Given the description of an element on the screen output the (x, y) to click on. 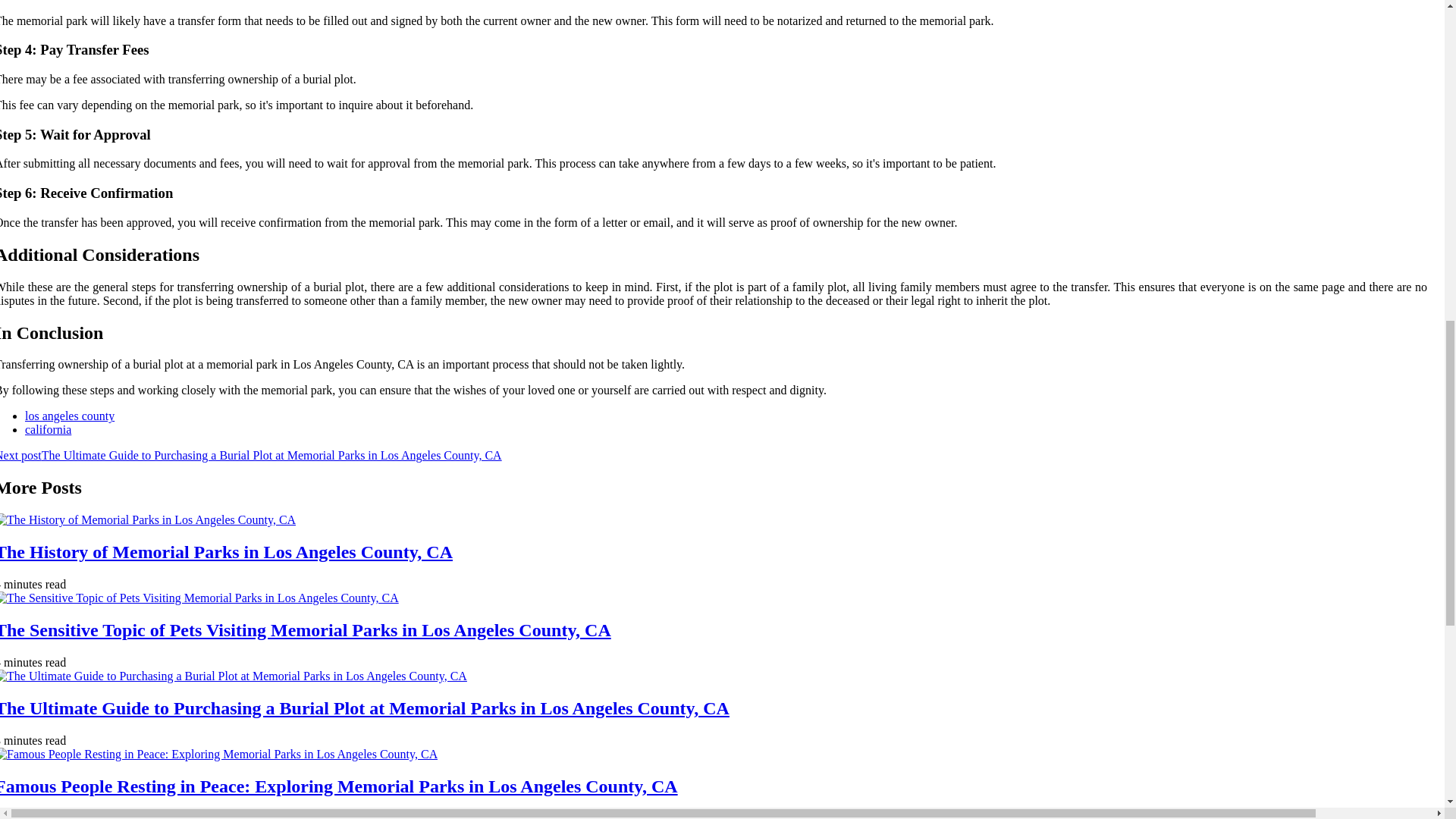
los angeles county (69, 415)
california (47, 429)
The History of Memorial Parks in Los Angeles County, CA (226, 551)
